Given the description of an element on the screen output the (x, y) to click on. 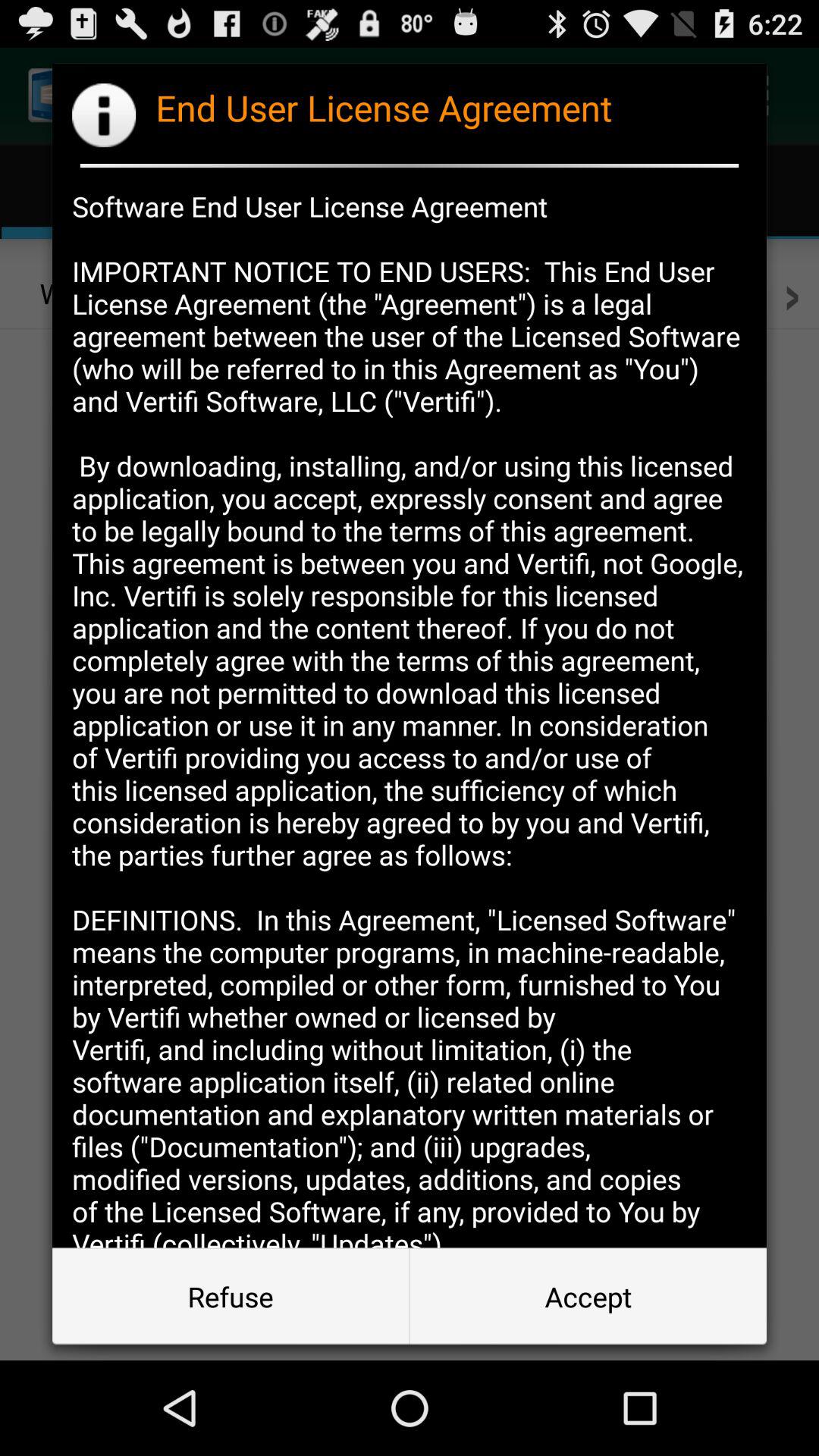
turn off icon below the software end user item (230, 1296)
